Given the description of an element on the screen output the (x, y) to click on. 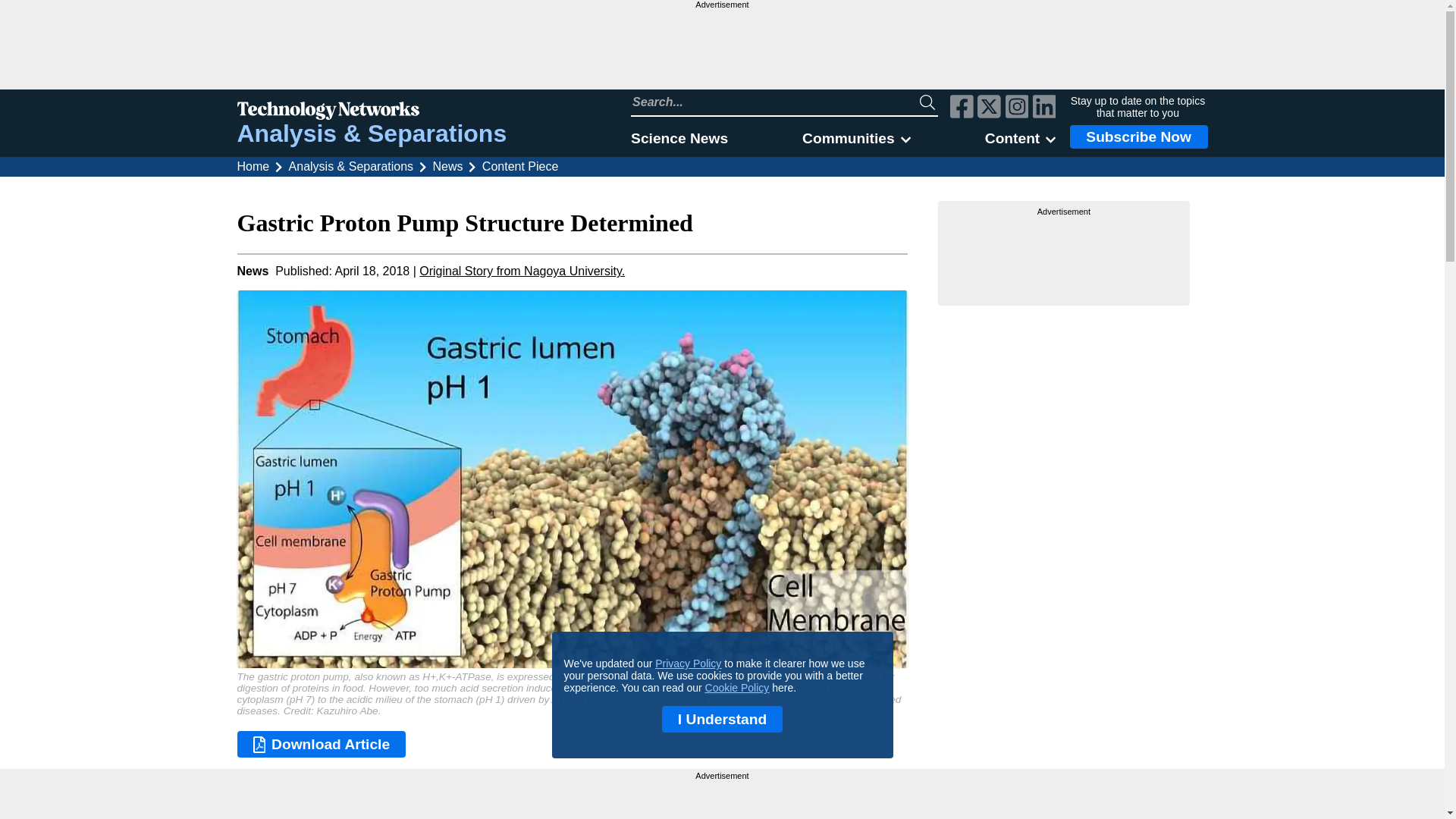
Click here to visit the original source for this content. (521, 270)
Search Technology Networks website input field (775, 102)
Technology Networks logo (370, 112)
Privacy Policy (687, 663)
I Understand (722, 718)
Cookie Policy (737, 687)
